Given the description of an element on the screen output the (x, y) to click on. 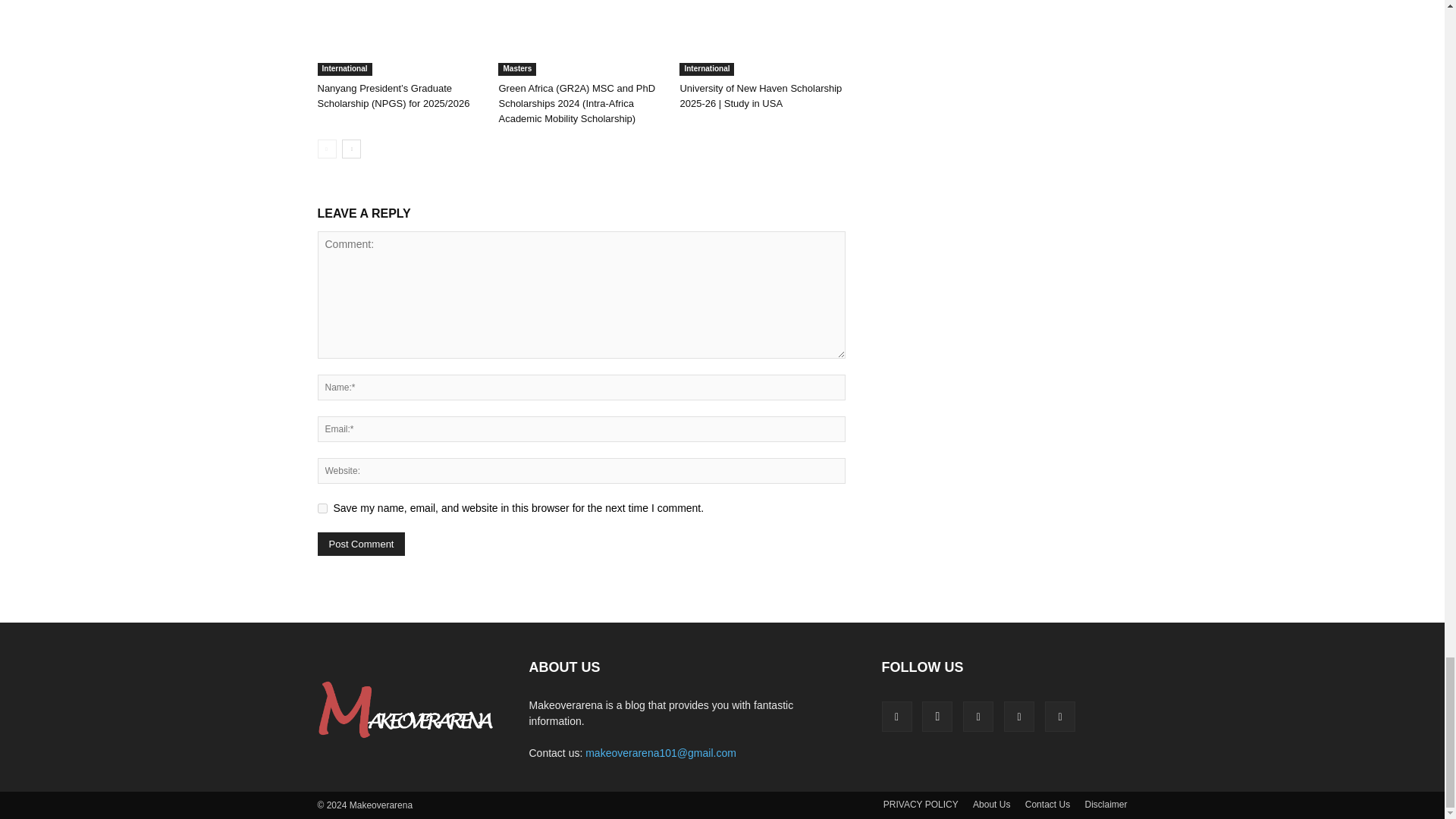
yes (321, 508)
Post Comment (360, 544)
